Given the description of an element on the screen output the (x, y) to click on. 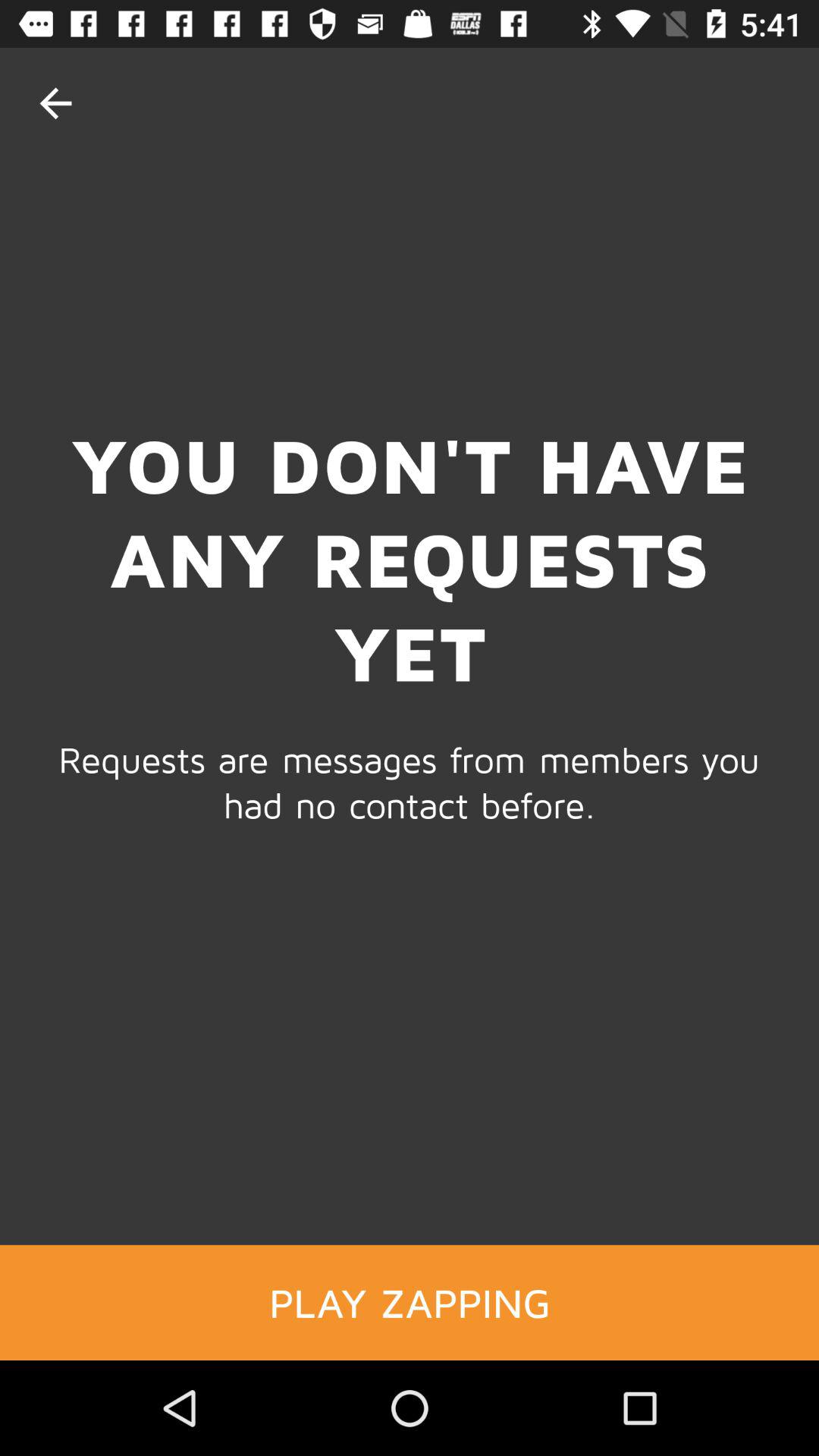
flip until the play zapping item (409, 1302)
